Given the description of an element on the screen output the (x, y) to click on. 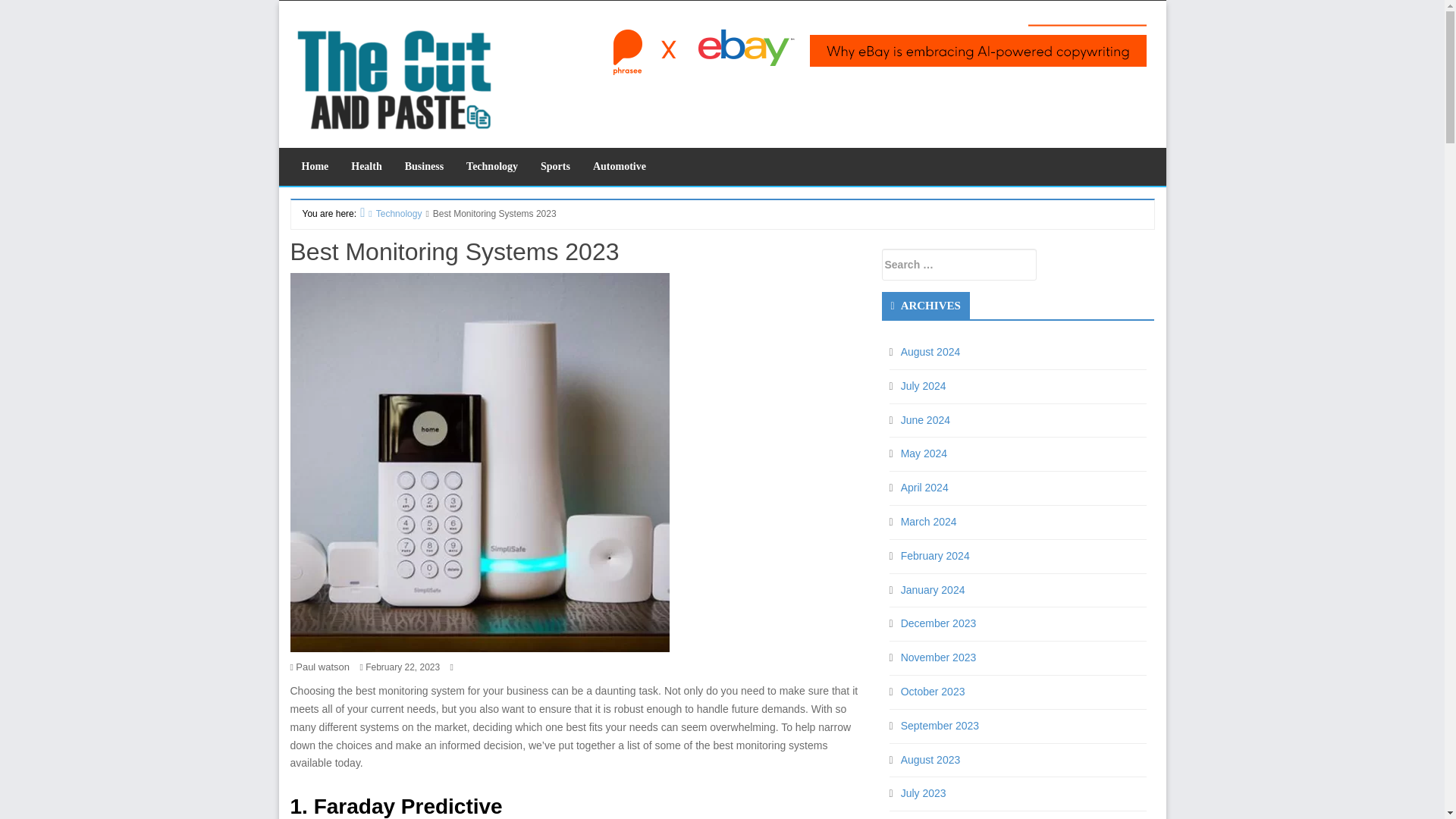
Business (423, 166)
July 2024 (923, 351)
February 2024 (935, 521)
Technology (393, 213)
March 2024 (928, 487)
August 2023 (930, 725)
November 2023 (938, 623)
Home (314, 166)
December 2023 (938, 589)
Sports (554, 166)
